Given the description of an element on the screen output the (x, y) to click on. 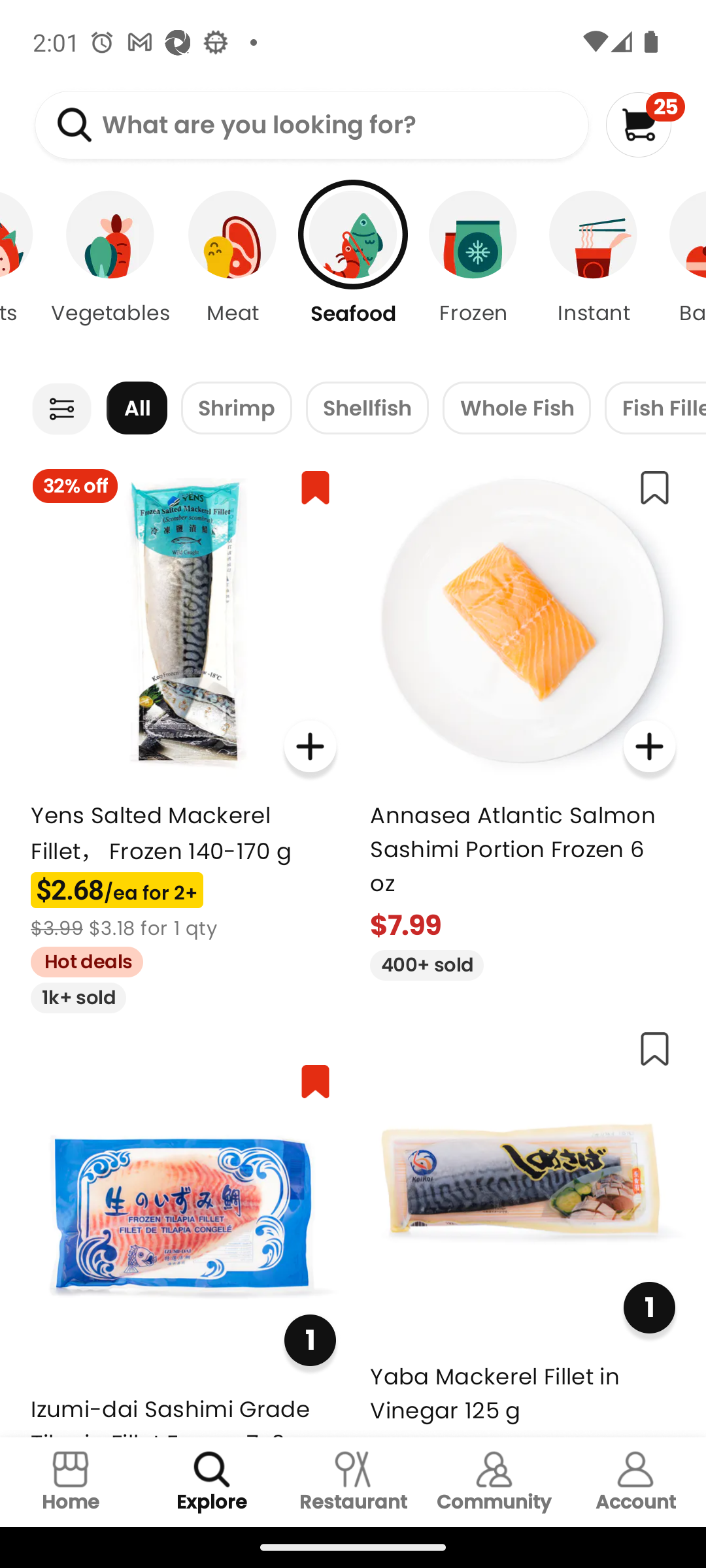
What are you looking for? (311, 124)
25 (644, 124)
Vegetables (110, 274)
Meat (232, 274)
Seafood (352, 274)
Frozen (473, 274)
Instant (593, 274)
All (136, 407)
Shrimp (236, 407)
Shellfish (366, 407)
Whole Fish (516, 407)
Fish Fillets & Steaks (655, 407)
Hot deals (79, 958)
1 Yaba Mackerel Fillet in Vinegar 125 g $3.99 (522, 1225)
1 (648, 1307)
1 (310, 1339)
Home (70, 1482)
Explore (211, 1482)
Restaurant (352, 1482)
Community (493, 1482)
Account (635, 1482)
